Given the description of an element on the screen output the (x, y) to click on. 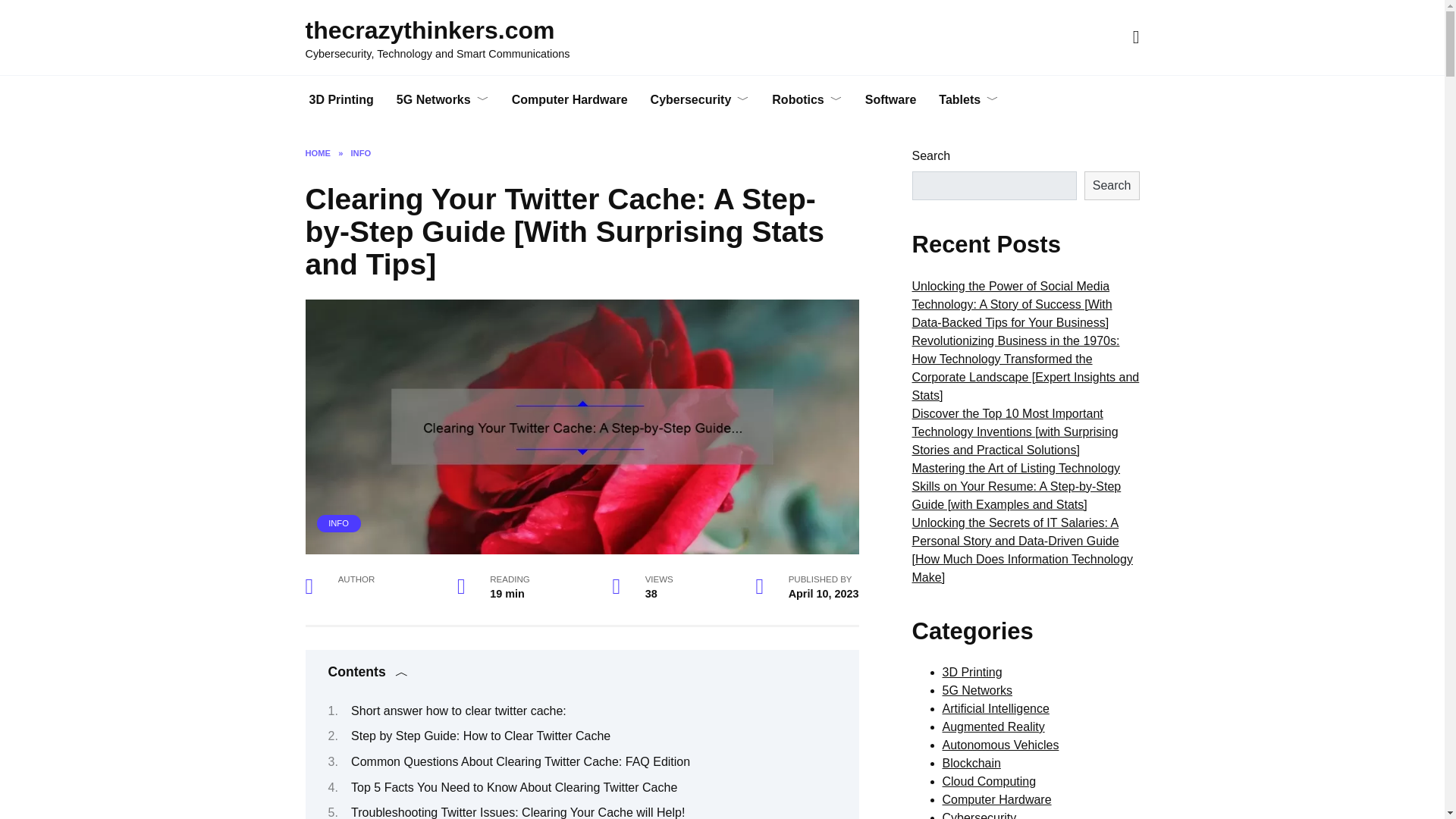
Computer Hardware (569, 100)
Tablets (968, 100)
3D Printing (340, 100)
Cybersecurity (700, 100)
Robotics (806, 100)
Software (890, 100)
5G Networks (442, 100)
thecrazythinkers.com (429, 30)
